Given the description of an element on the screen output the (x, y) to click on. 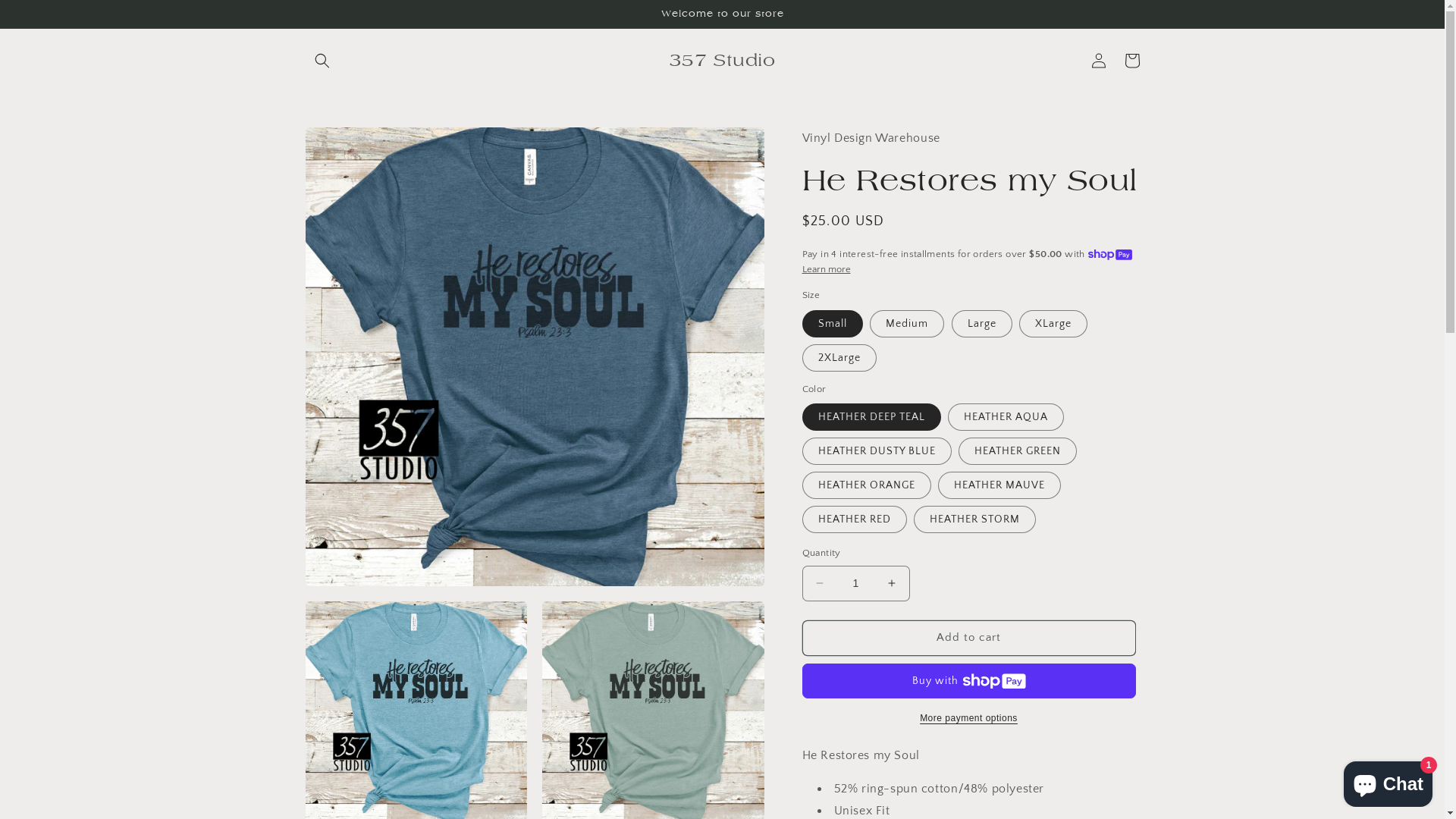
Log in Element type: text (1097, 60)
Decrease quantity for He Restores my Soul Element type: text (819, 583)
Shopify online store chat Element type: hover (1388, 780)
Skip to product information Element type: text (350, 144)
Increase quantity for He Restores my Soul Element type: text (892, 583)
Cart Element type: text (1131, 60)
Add to cart Element type: text (968, 637)
More payment options Element type: text (968, 717)
357 Studio Element type: text (722, 60)
